Given the description of an element on the screen output the (x, y) to click on. 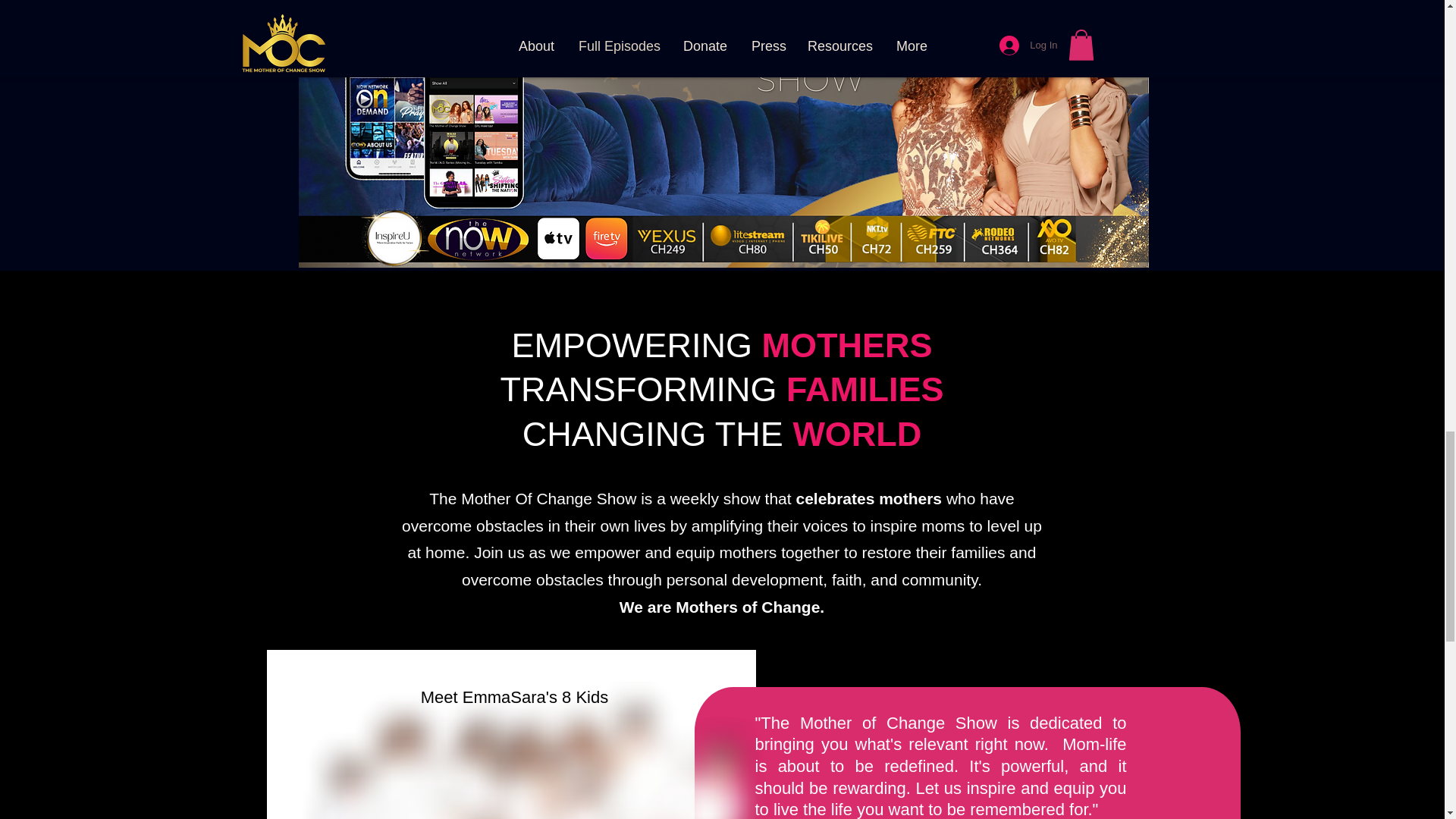
Erick Robinson Photographer, Mother of C (521, 750)
